Given the description of an element on the screen output the (x, y) to click on. 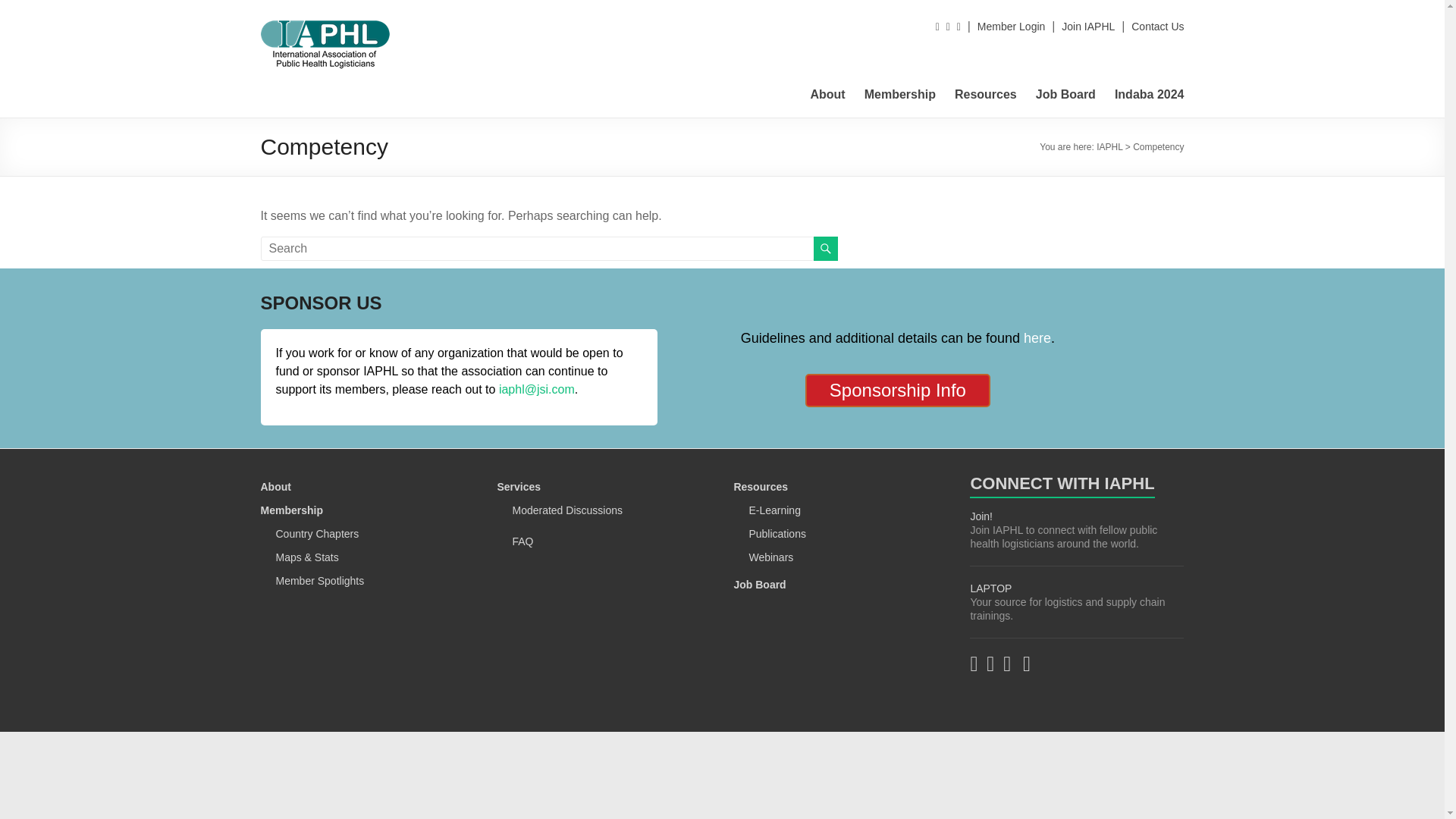
Indaba 2024 (1150, 94)
Resources (985, 94)
Join IAPHL (1088, 26)
Sponsorship Info (897, 390)
E-Learning (774, 510)
FAQ (522, 541)
Services (518, 486)
Membership (291, 510)
Country Chapters (317, 533)
Contact Us (1157, 26)
About (826, 94)
Go to IAPHL. (1109, 146)
IAPHL (298, 39)
Membership (900, 94)
Member Login (1010, 26)
